Given the description of an element on the screen output the (x, y) to click on. 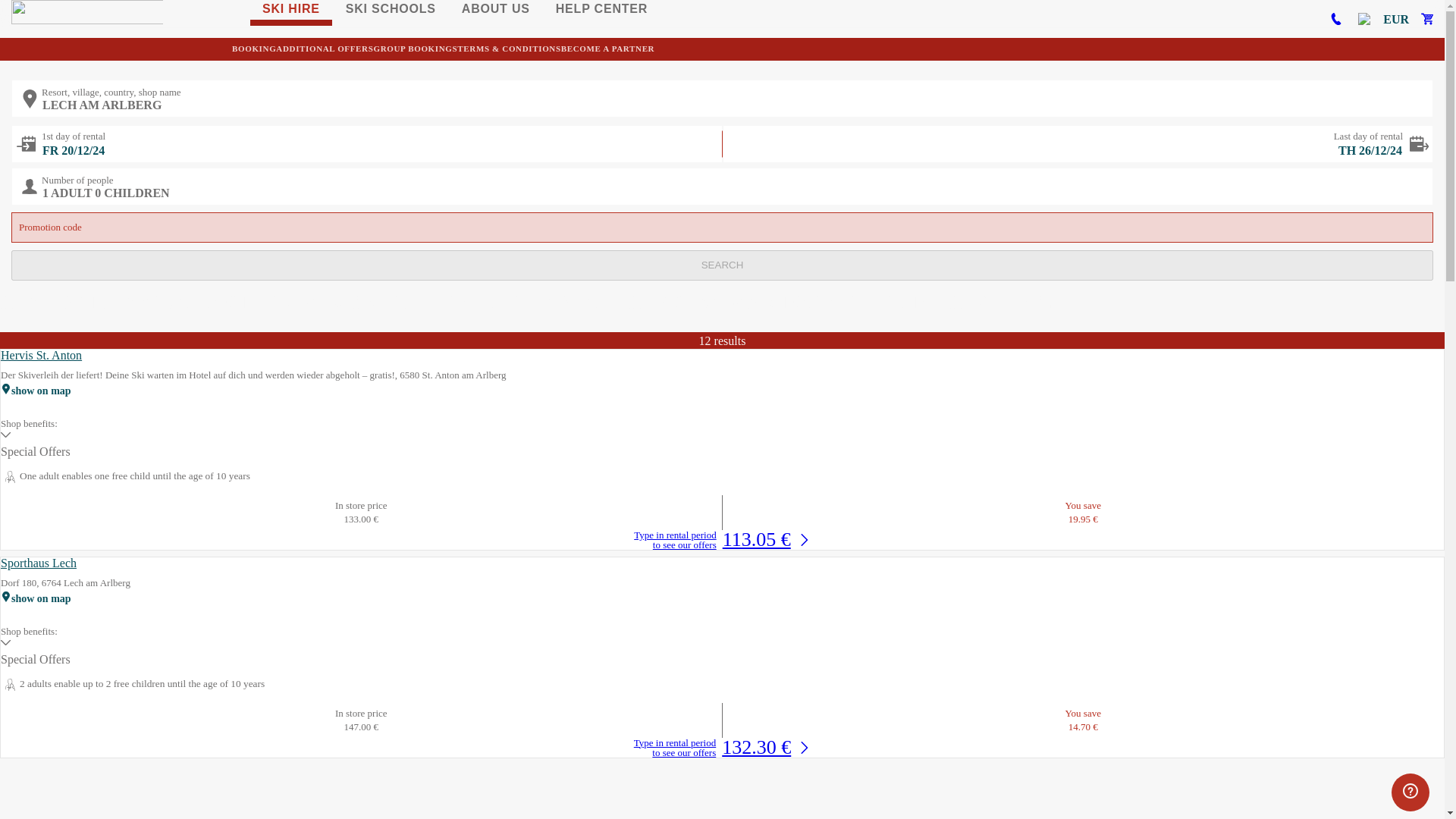
ADDITIONAL OFFERS (324, 48)
ABOUT US (495, 12)
SEARCH (721, 265)
Hervis St. Anton (41, 354)
SKI SCHOOLS (390, 12)
SKI HIRE (290, 12)
1 Adult 0 Children (721, 186)
BOOKING (253, 48)
BECOME A PARTNER (607, 48)
Sporthaus Lech (39, 562)
